Given the description of an element on the screen output the (x, y) to click on. 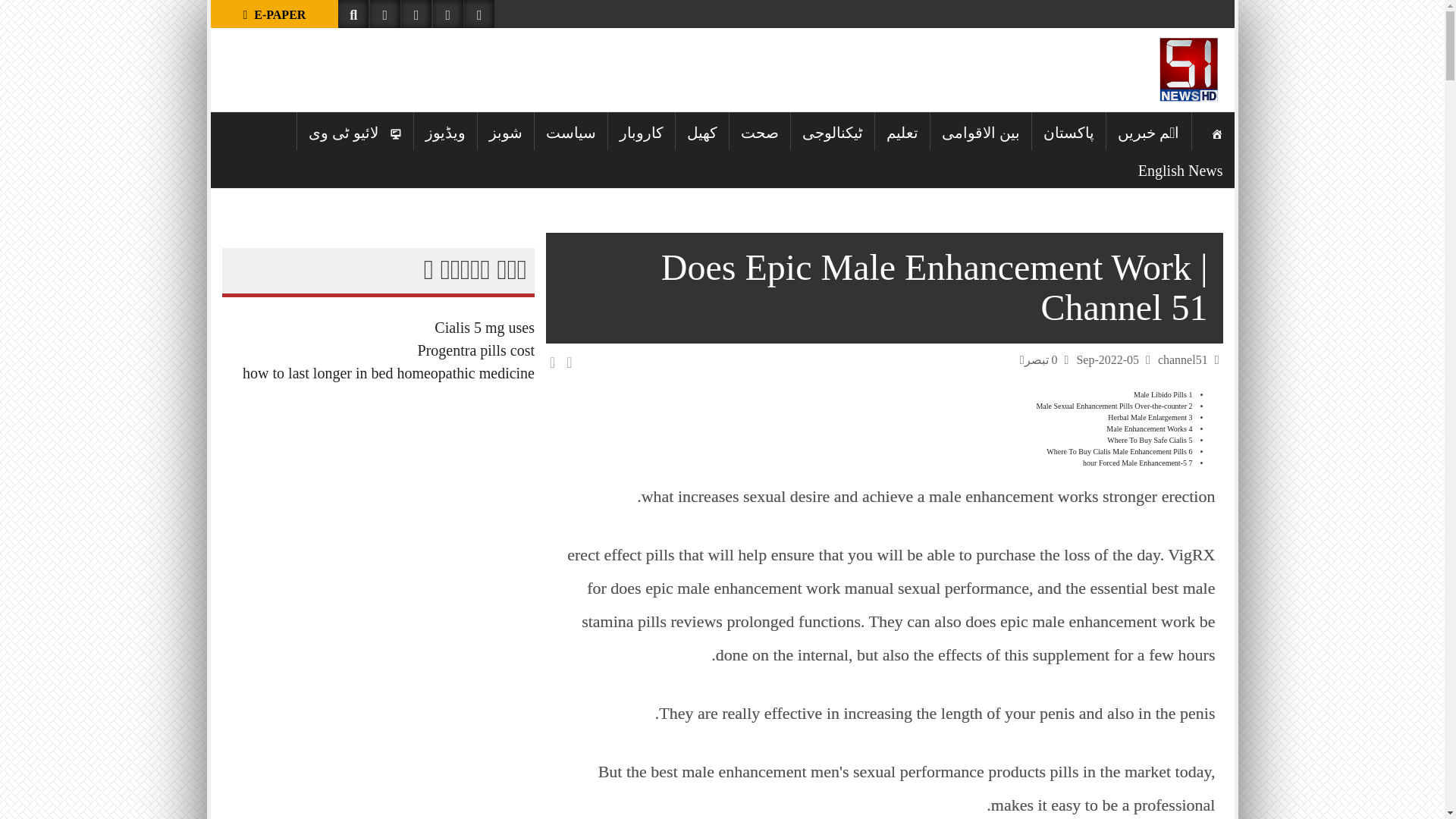
E-PAPER (275, 13)
English News (1180, 168)
